Given the description of an element on the screen output the (x, y) to click on. 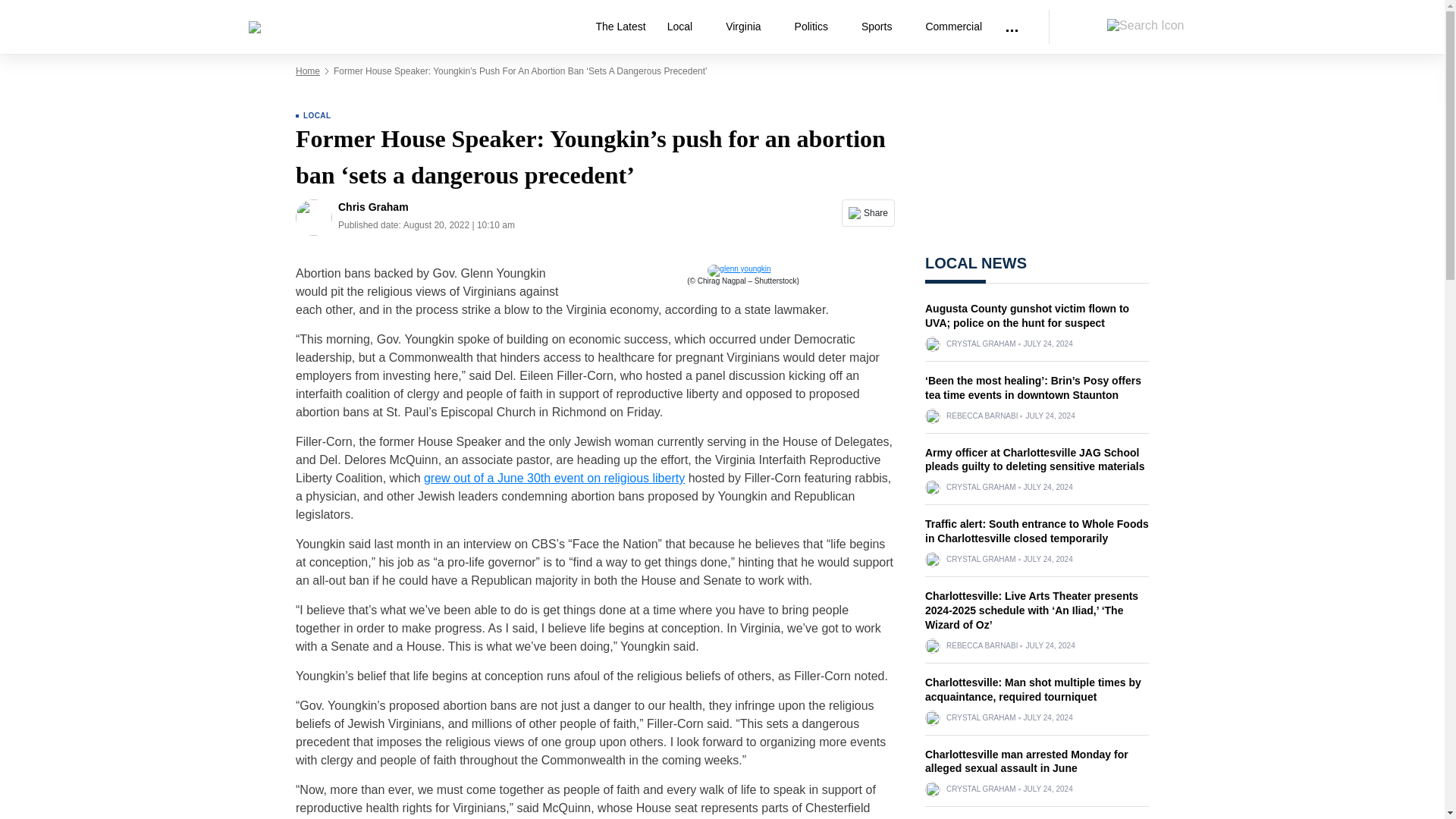
Local (685, 27)
Virginia (748, 27)
Politics (817, 27)
Sports (882, 27)
The Latest (620, 27)
Commercial (953, 27)
